Given the description of an element on the screen output the (x, y) to click on. 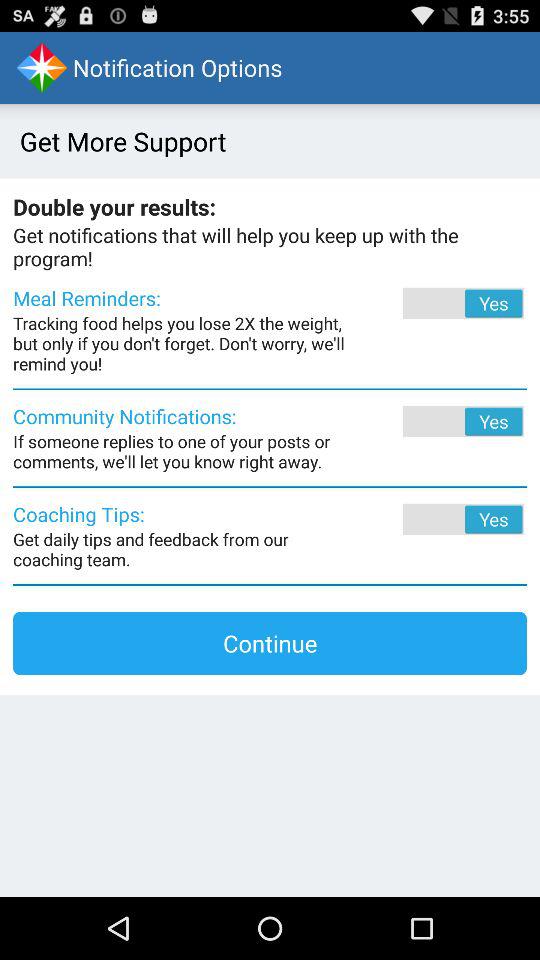
launch the app to the right of coaching tips: app (436, 519)
